Given the description of an element on the screen output the (x, y) to click on. 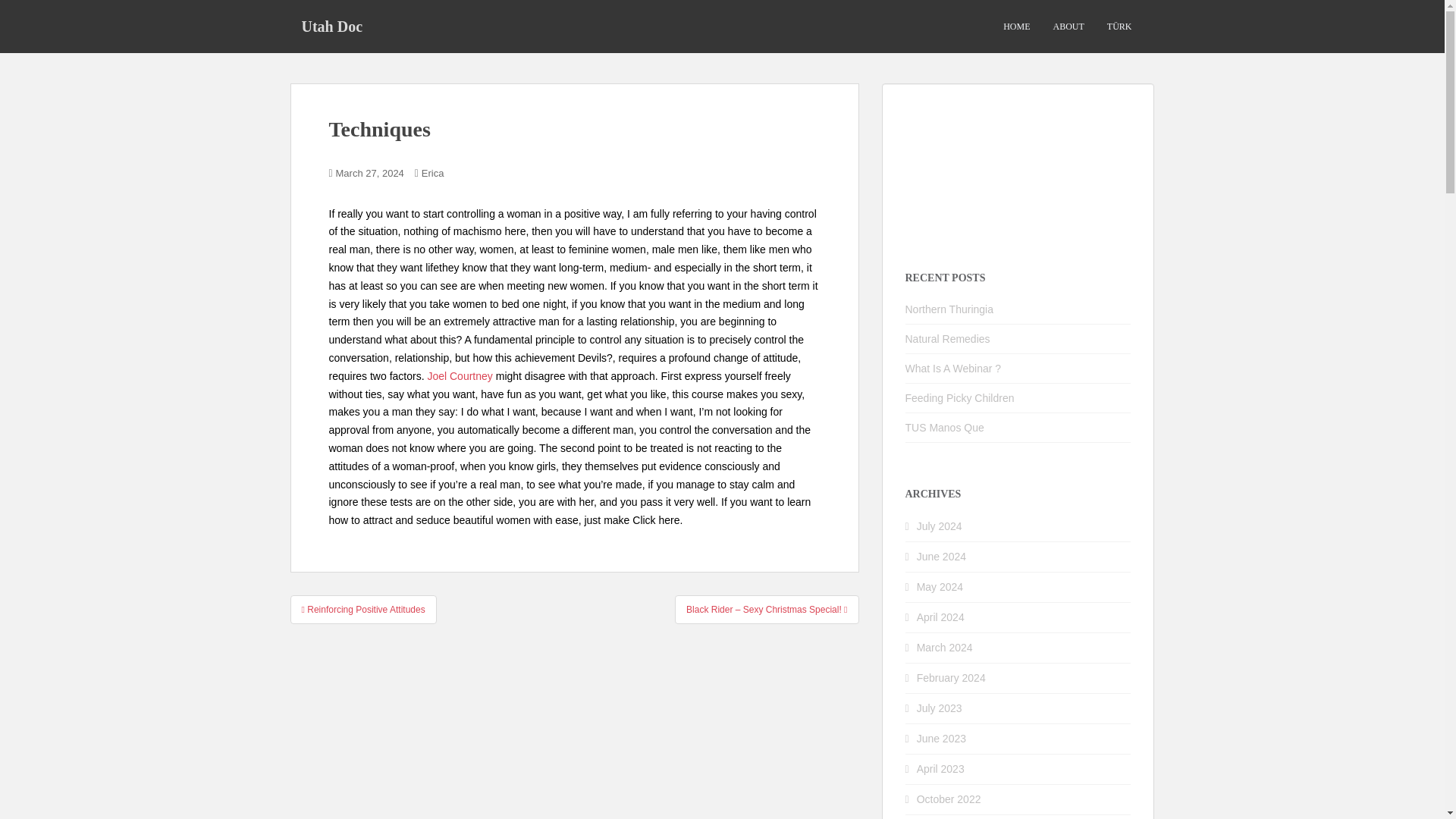
ABOUT (1067, 26)
April 2024 (940, 616)
Joel Courtney (459, 376)
Reinforcing Positive Attitudes (362, 609)
April 2023 (940, 768)
Erica (433, 173)
May 2024 (939, 586)
March 2024 (944, 647)
Utah Doc (331, 26)
October 2022 (949, 799)
June 2023 (941, 738)
March 27, 2024 (370, 173)
February 2024 (951, 677)
July 2023 (939, 707)
Utah Doc (331, 26)
